Given the description of an element on the screen output the (x, y) to click on. 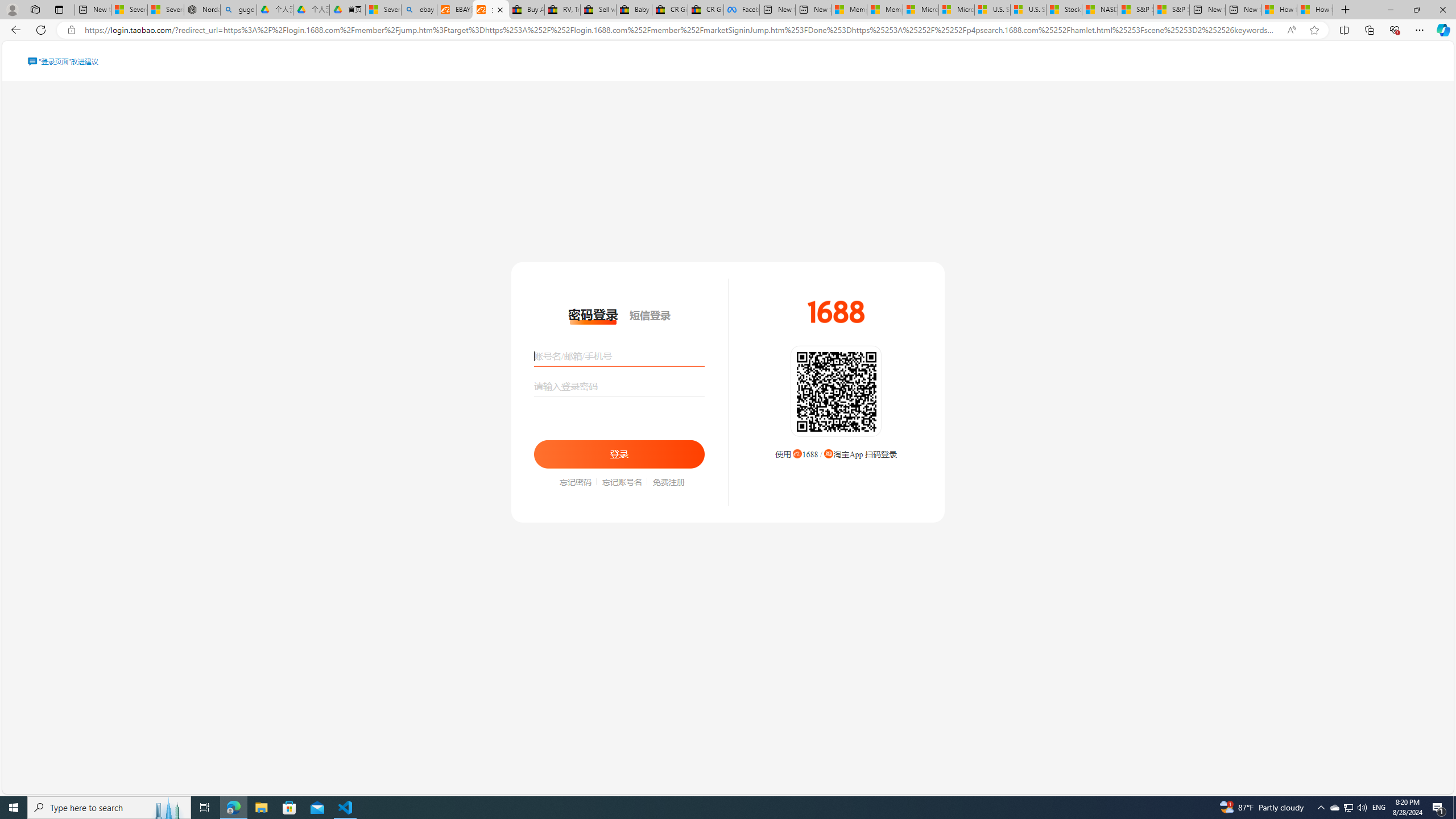
Browser essentials (1394, 29)
Settings and more (Alt+F) (1419, 29)
Address and search bar (680, 29)
New Tab (1346, 9)
